Given the description of an element on the screen output the (x, y) to click on. 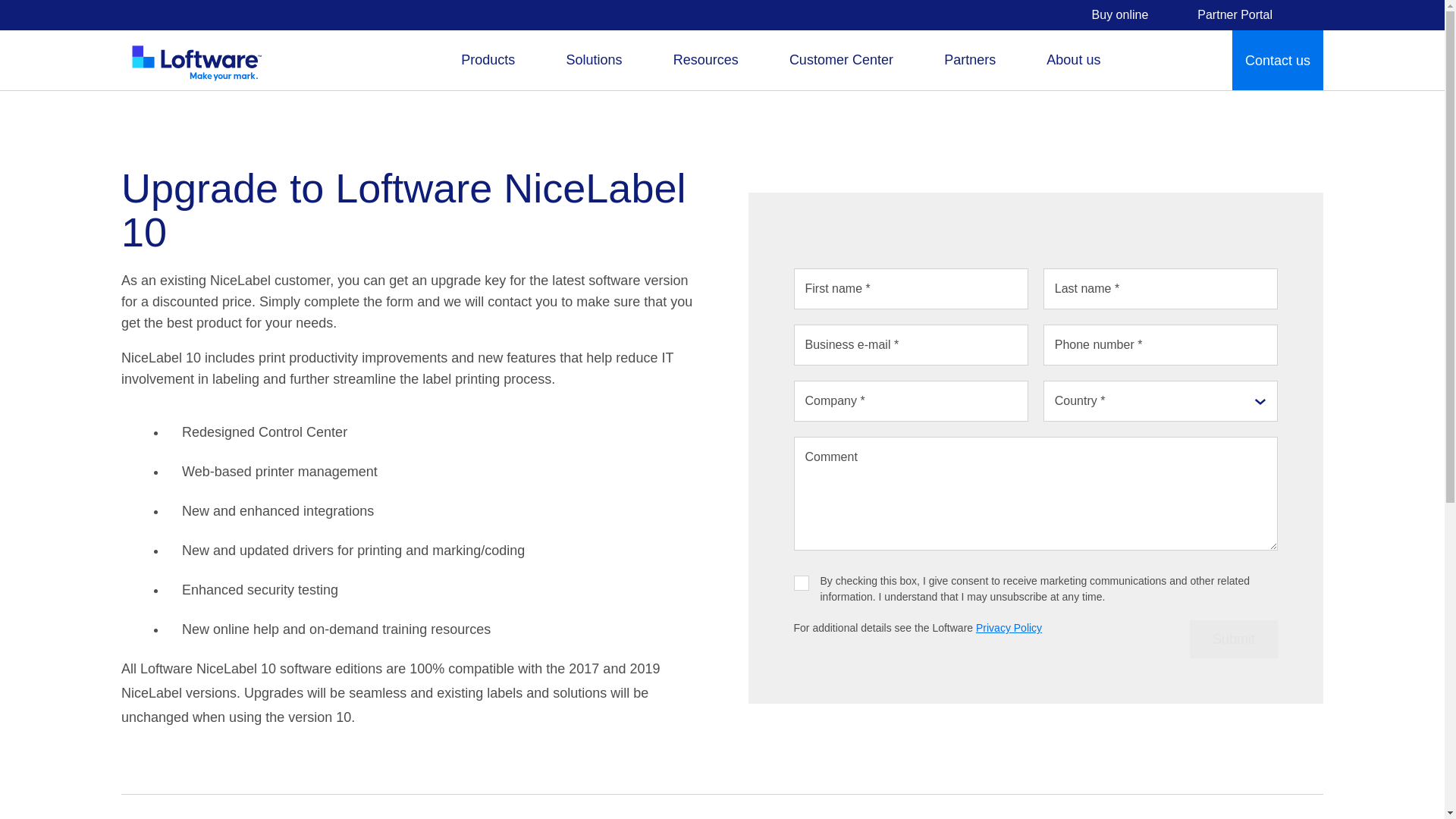
 I have read and agree to the privacy policy. (800, 582)
Partner Portal (1224, 15)
Buy online (1120, 15)
